Given the description of an element on the screen output the (x, y) to click on. 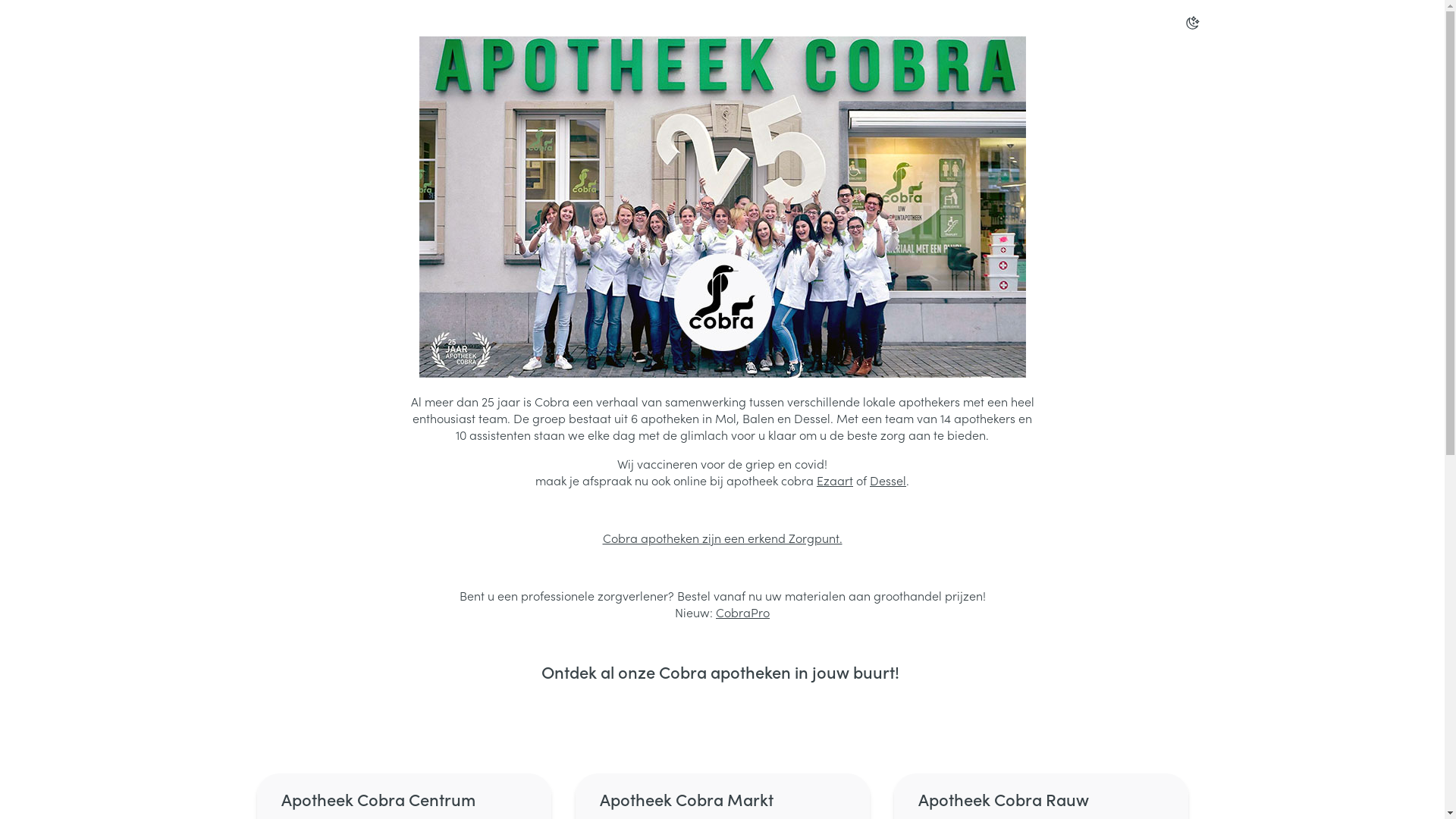
Cobra apotheken zijn een erkend Zorgpunt. Element type: text (721, 537)
Donkere modus Element type: text (1191, 22)
CobraPro Element type: text (742, 611)
Dessel Element type: text (887, 479)
Ezaart Element type: text (834, 479)
